Given the description of an element on the screen output the (x, y) to click on. 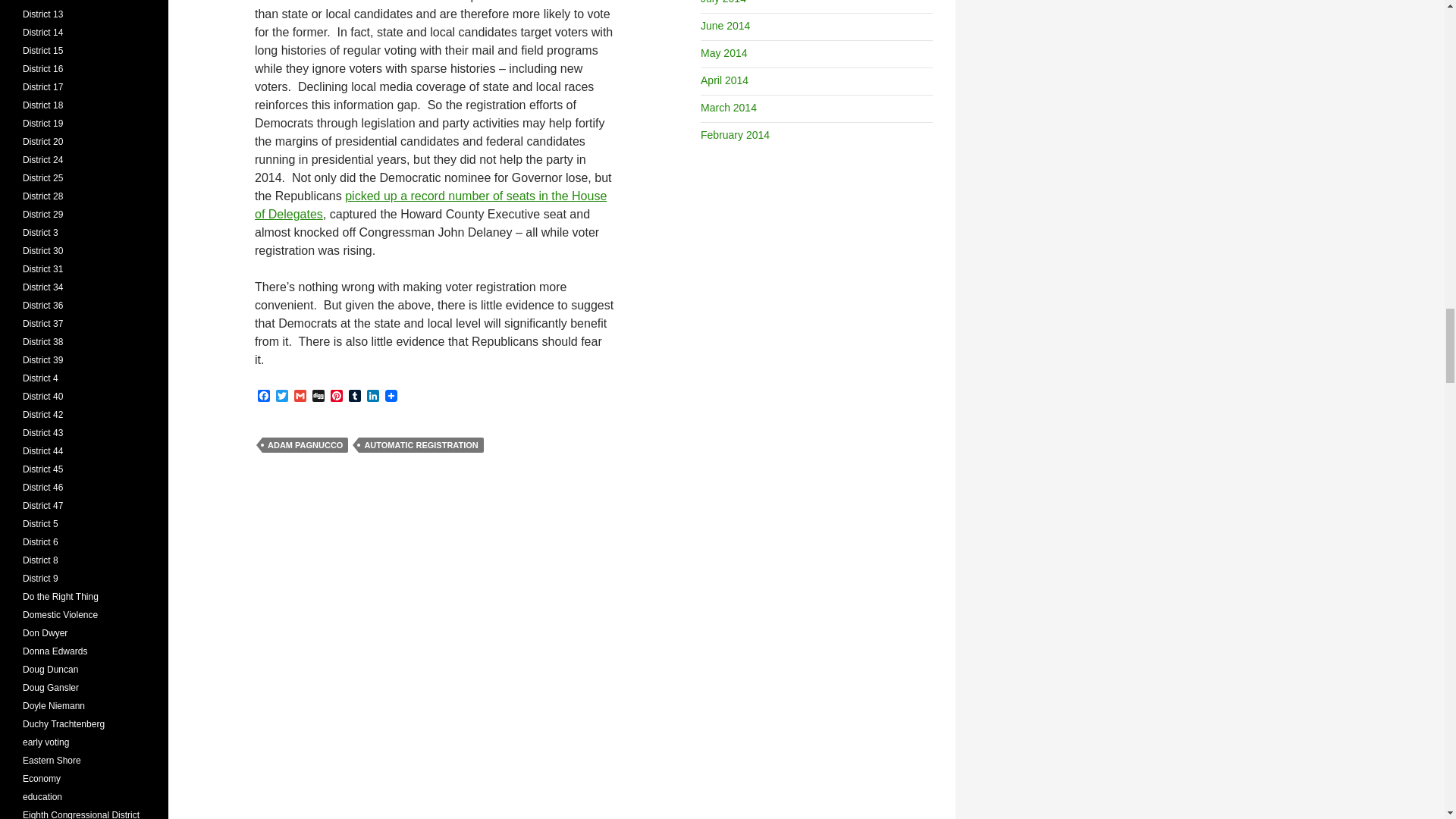
Twitter (282, 396)
AUTOMATIC REGISTRATION (420, 444)
ADAM PAGNUCCO (304, 444)
Tumblr (355, 396)
Facebook (263, 396)
Pinterest (336, 396)
Pinterest (336, 396)
Facebook (263, 396)
Digg (317, 396)
Tumblr (355, 396)
LinkedIn (372, 396)
picked up a record number of seats in the House of Delegates (430, 204)
Digg (317, 396)
Gmail (299, 396)
LinkedIn (372, 396)
